Given the description of an element on the screen output the (x, y) to click on. 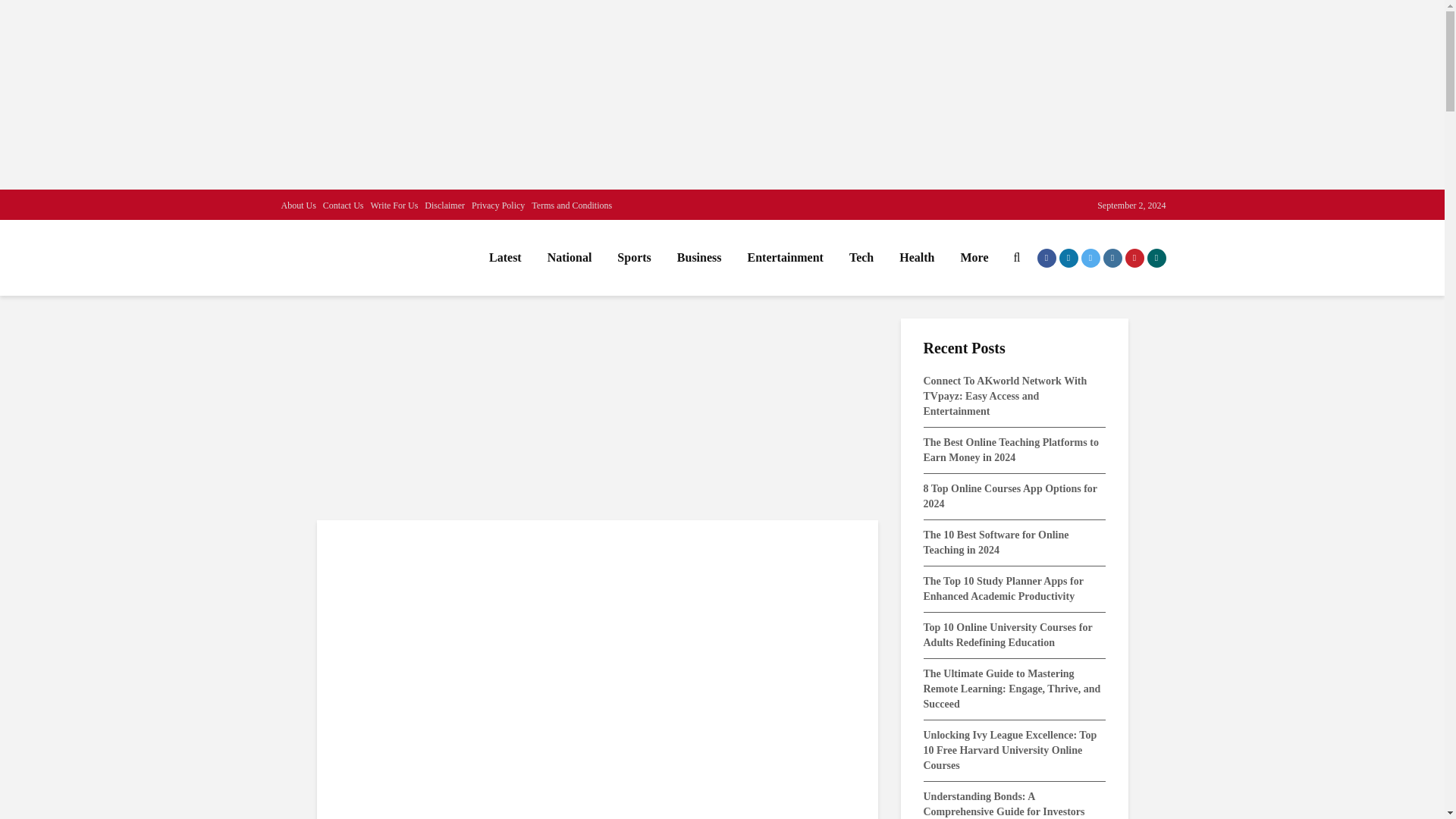
Health (916, 257)
Contact Us (343, 205)
Tech (861, 257)
More (973, 257)
Sports (633, 257)
Write For Us (395, 205)
Latest (504, 257)
Disclaimer (444, 205)
National (569, 257)
Terms and Conditions (571, 205)
